Given the description of an element on the screen output the (x, y) to click on. 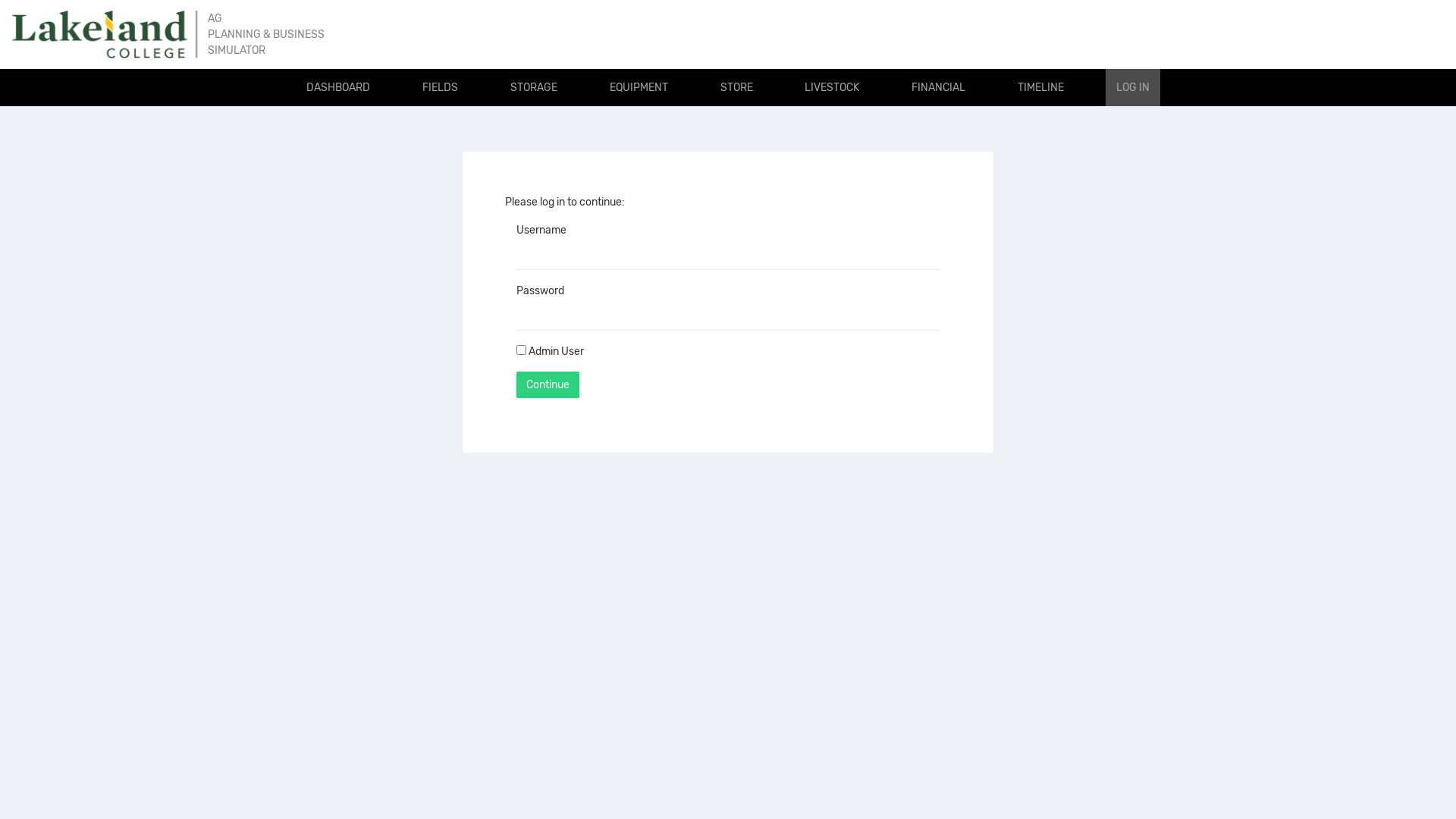
LIVESTOCK Element type: text (831, 87)
EQUIPMENT Element type: text (638, 87)
TIMELINE Element type: text (1040, 87)
DASHBOARD Element type: text (337, 87)
FIELDS Element type: text (439, 87)
Continue Element type: text (547, 384)
FINANCIAL Element type: text (937, 87)
STORE Element type: text (736, 87)
STORAGE Element type: text (533, 87)
LOG IN Element type: text (1132, 87)
